Given the description of an element on the screen output the (x, y) to click on. 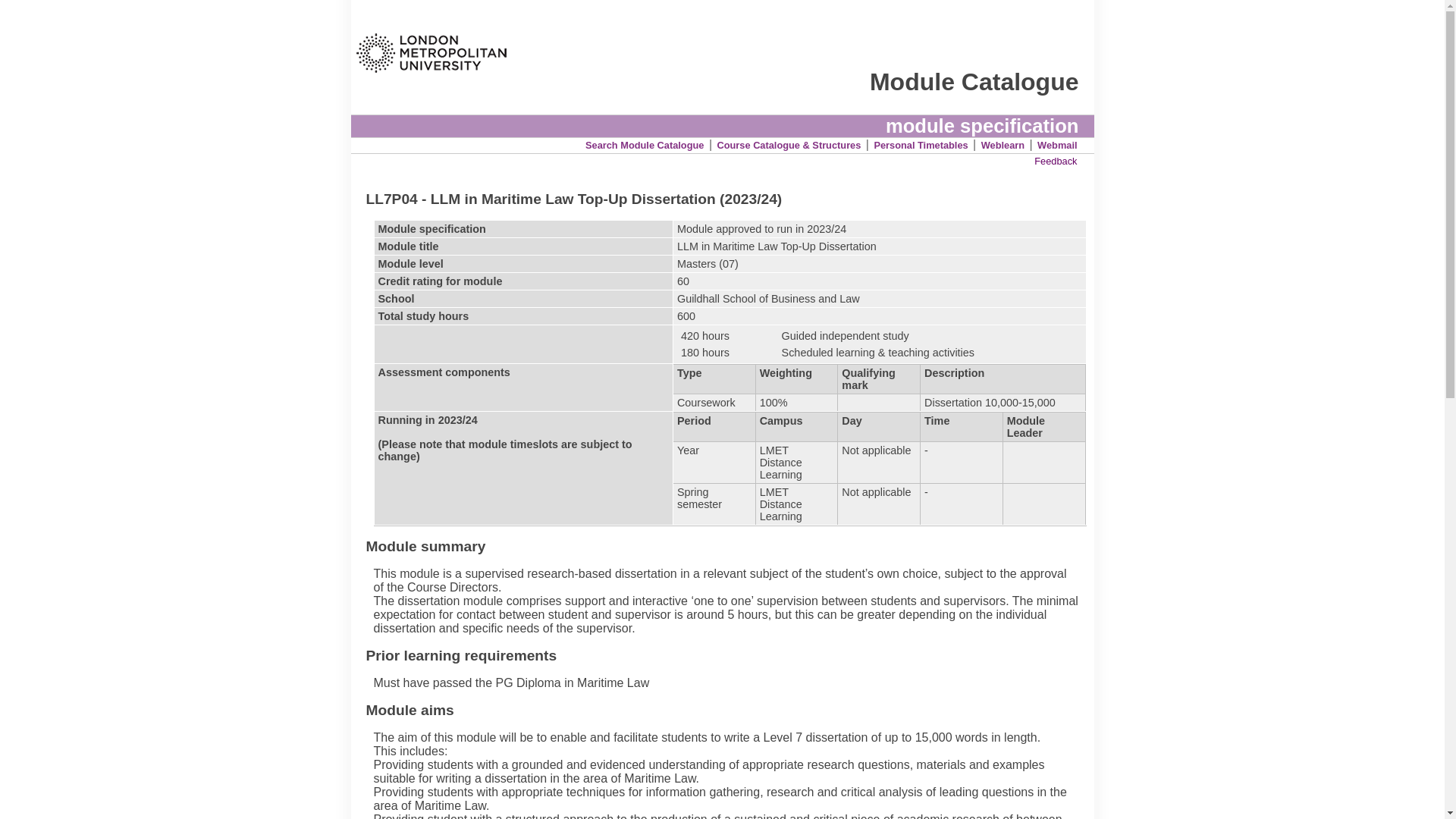
Personal Timetables (920, 144)
Weblearn (1002, 144)
Feedback (1055, 161)
Search Module Catalogue (643, 144)
Webmail (1056, 144)
